Given the description of an element on the screen output the (x, y) to click on. 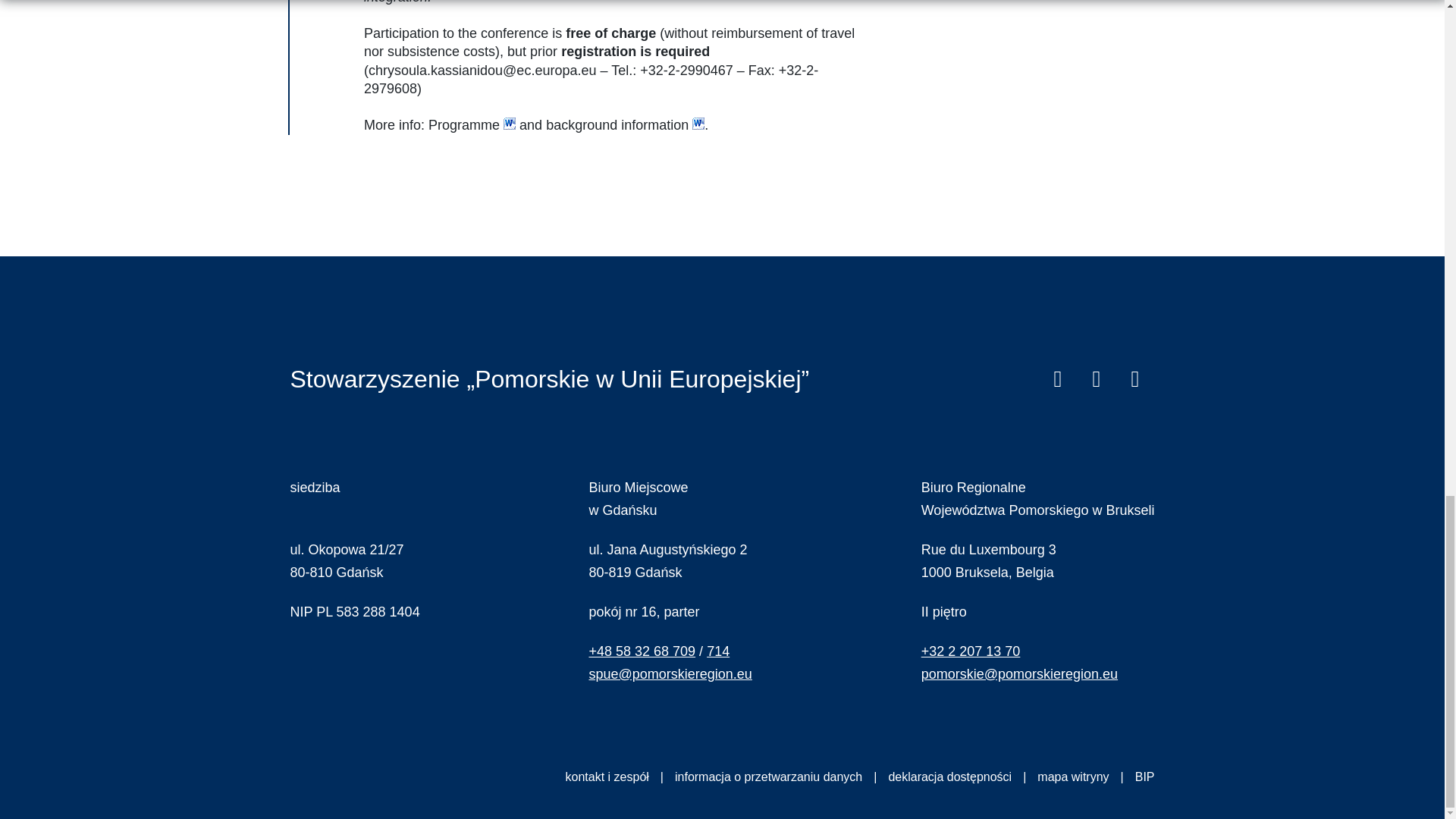
BIP (1144, 776)
background information (617, 124)
714 (717, 651)
background information (617, 124)
Programme (463, 124)
informacja o przetwarzaniu danych (781, 776)
Programme (463, 124)
mapa witryny (1085, 776)
